Given the description of an element on the screen output the (x, y) to click on. 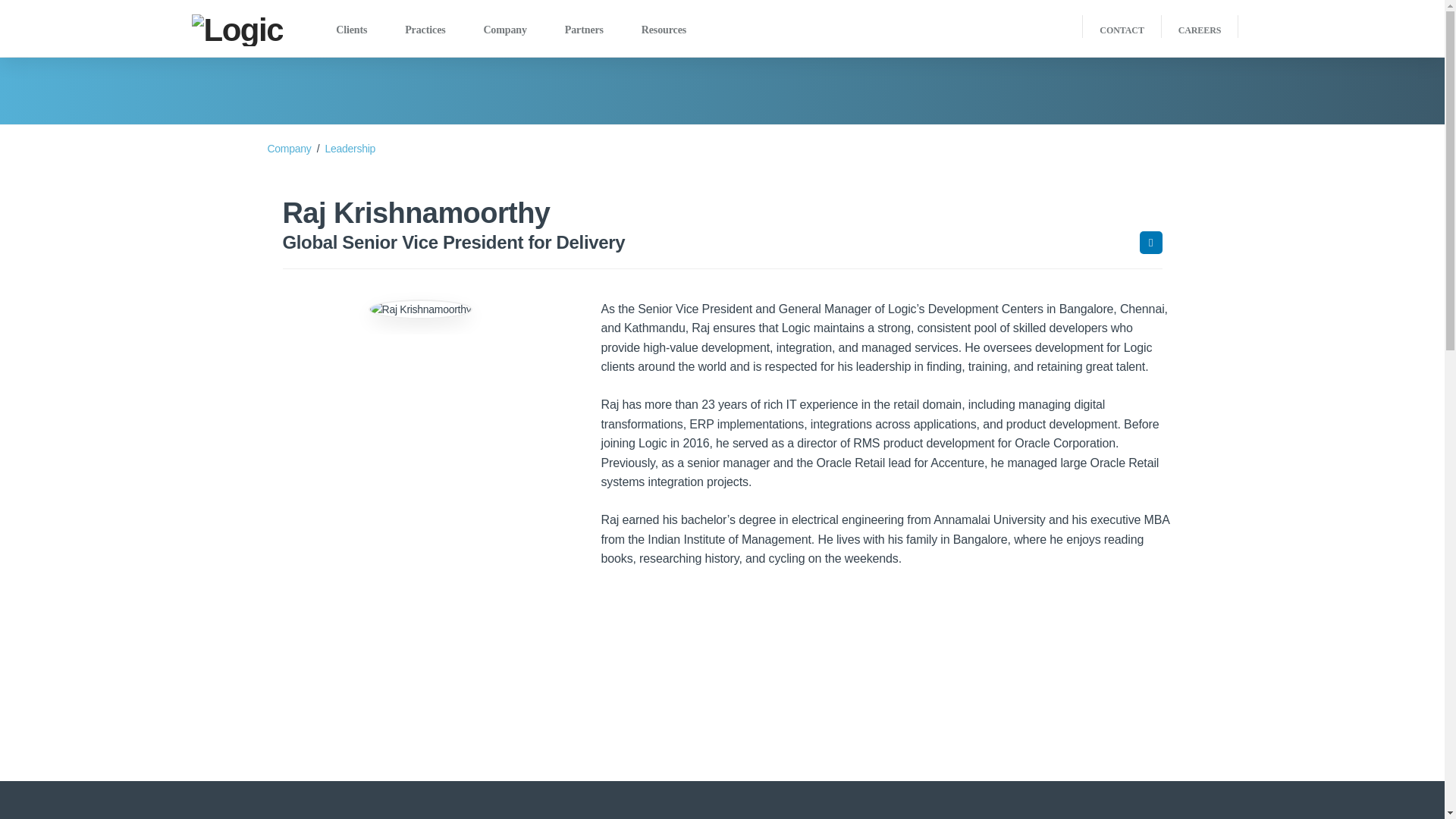
Clients (350, 28)
Partners (584, 28)
CONTACT (1121, 30)
Linkedin (1149, 241)
CAREERS (1199, 30)
Company (504, 28)
Practices (425, 28)
Resources (663, 28)
